Given the description of an element on the screen output the (x, y) to click on. 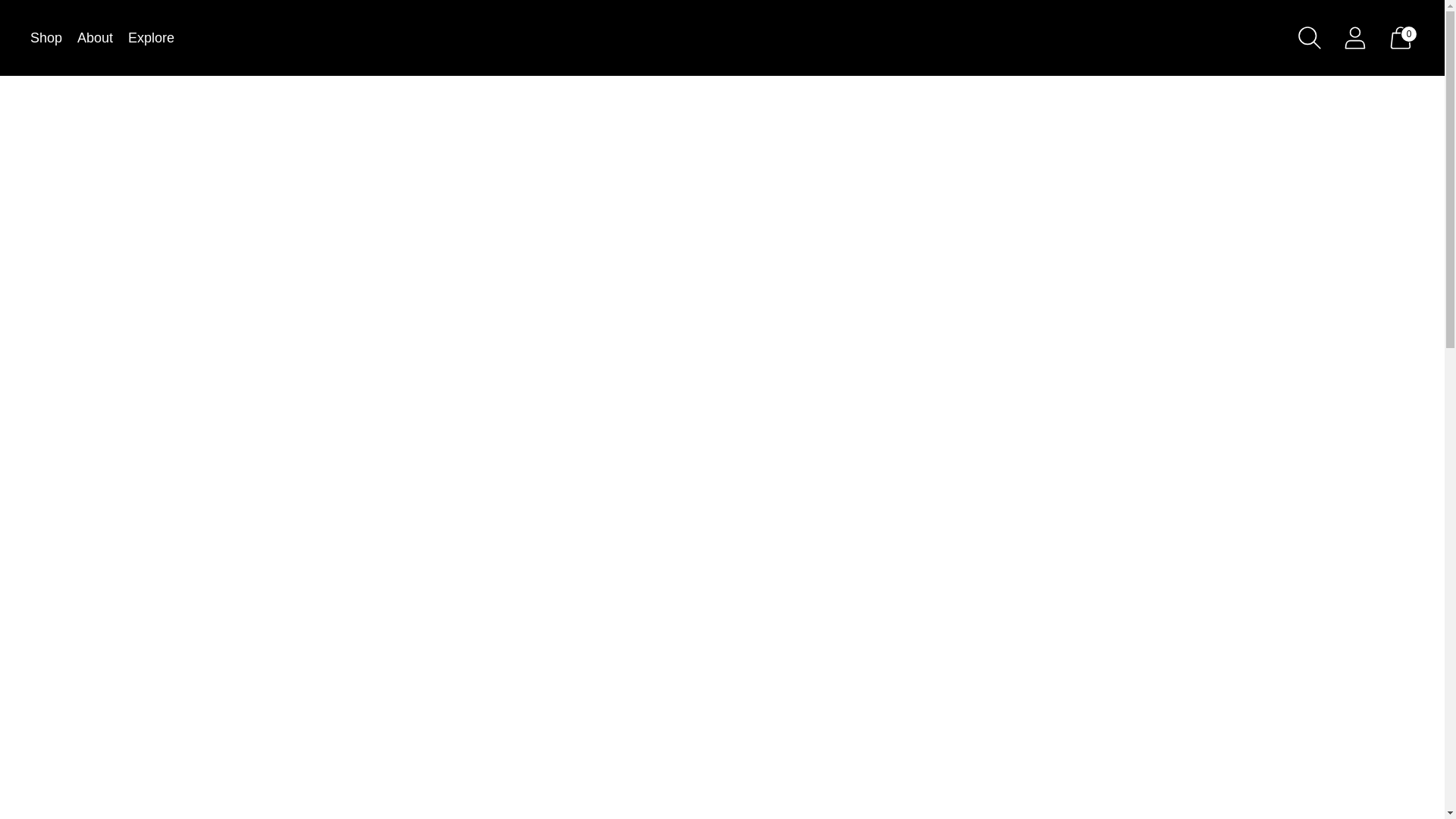
Explore (151, 37)
0 (1400, 37)
Shop (46, 37)
About (95, 37)
